Given the description of an element on the screen output the (x, y) to click on. 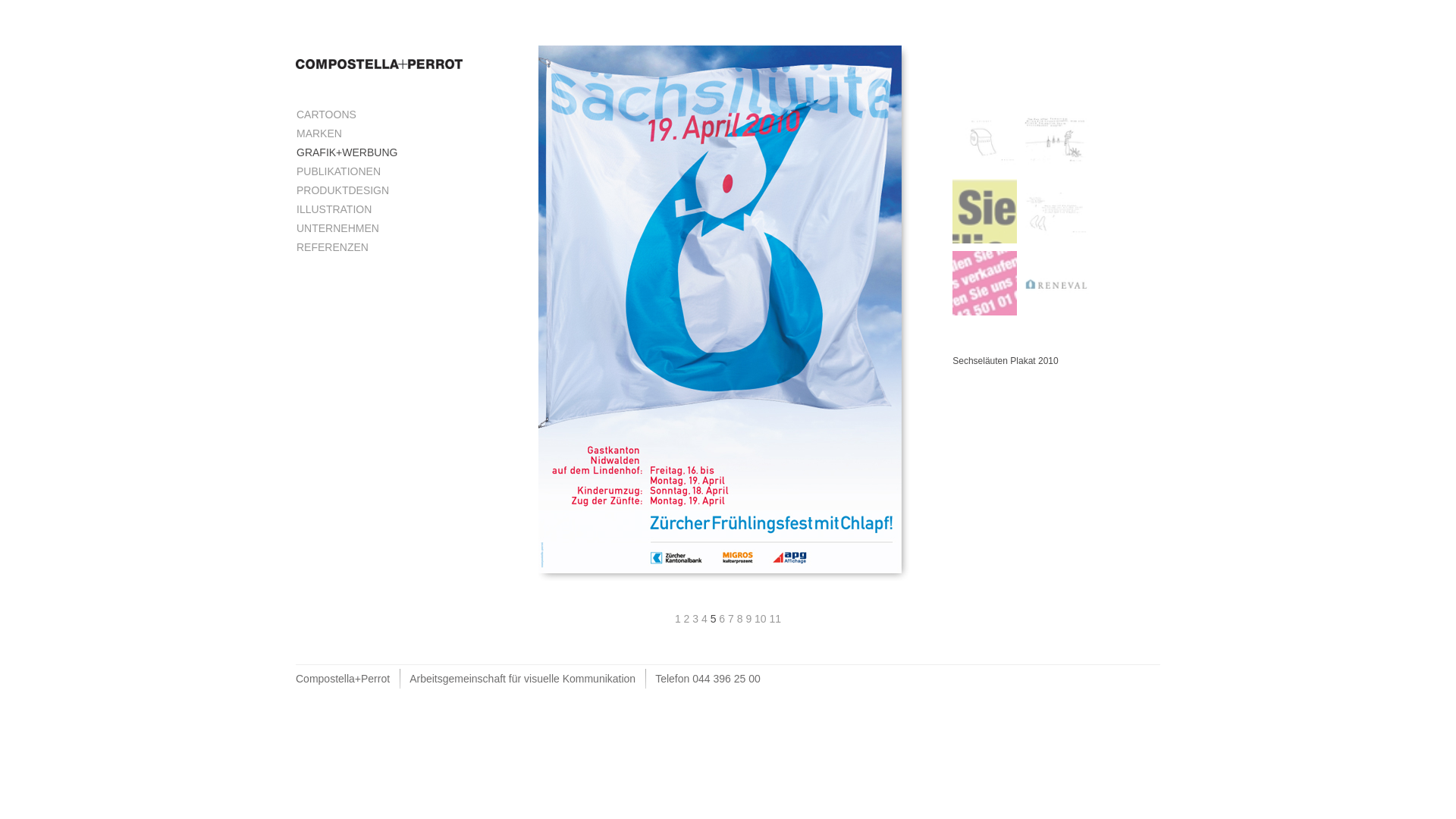
11 Element type: text (775, 618)
3 Element type: text (696, 618)
REFERENZEN Element type: text (332, 246)
2 Element type: text (688, 618)
1 Element type: text (679, 618)
PRODUKTDESIGN Element type: text (343, 189)
5 Element type: text (714, 618)
03 Feb12 Wir auch! Element type: hover (984, 210)
10 Mai12 Spatz Element type: hover (984, 283)
PUBLIKATIONEN Element type: text (339, 170)
GRAFIK+WERBUNG Element type: text (347, 152)
10 Element type: text (761, 618)
ILLUSTRATION Element type: text (333, 208)
Freitag, 8. April 2016 Element type: hover (984, 138)
MARKEN Element type: text (319, 133)
Freitag, 10. Juni 2016 Element type: hover (1056, 210)
9 Element type: text (749, 618)
7 Element type: text (732, 618)
8 Element type: text (741, 618)
4 Element type: text (705, 618)
CARTOONS Element type: text (327, 114)
Freitag, 22. Januar 2016 Element type: hover (1056, 138)
UNTERNEHMEN Element type: text (338, 227)
6 Element type: text (723, 618)
Reneval Element type: hover (1056, 283)
